Given the description of an element on the screen output the (x, y) to click on. 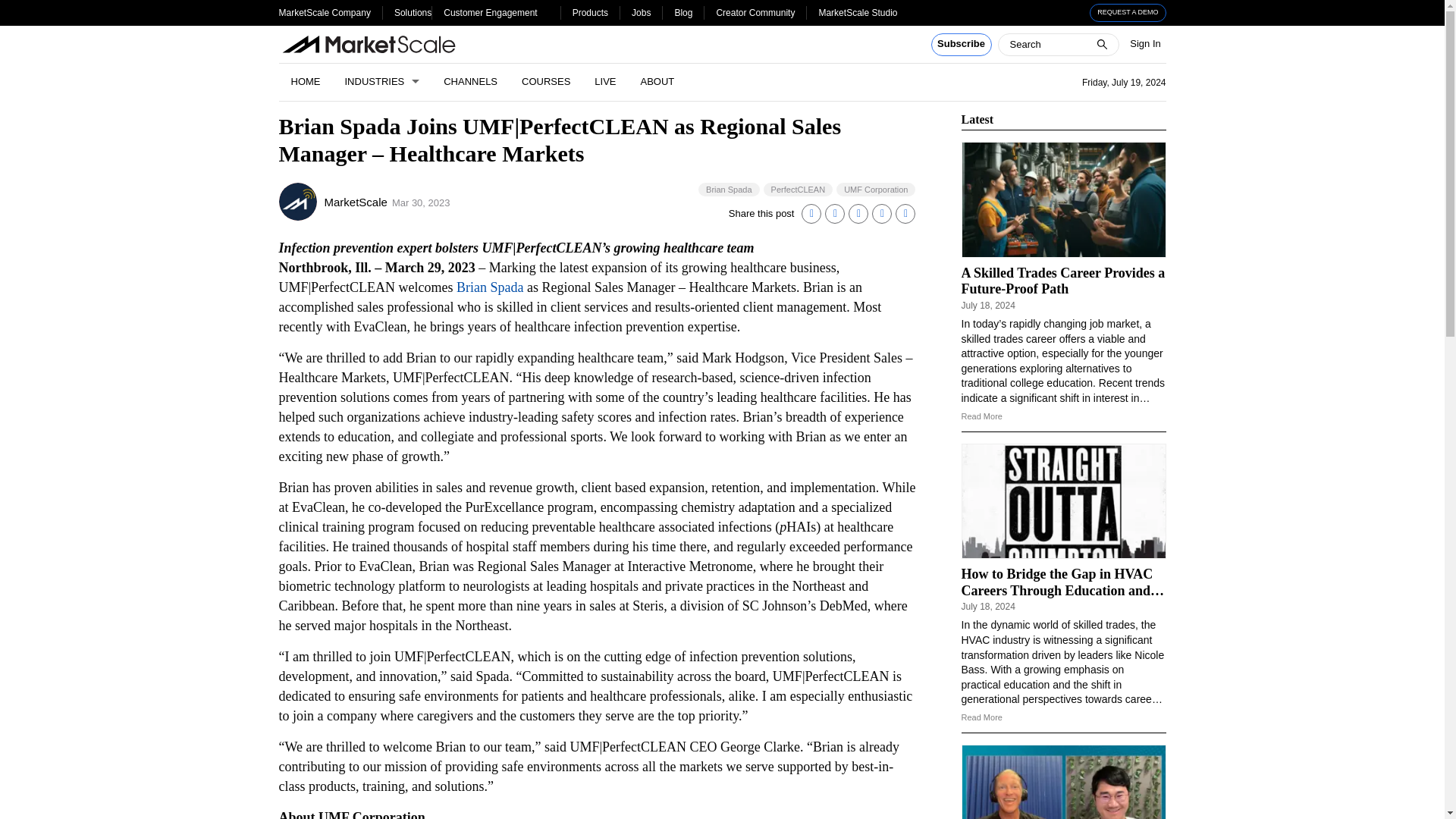
Share on Email (881, 213)
Products (590, 12)
Jobs (640, 12)
Copy Link (905, 213)
Share on X (834, 213)
Share on Facebook (857, 213)
Customer Engagement (490, 12)
Share on Linkedin (811, 213)
Creator Community (755, 12)
MarketScale (355, 201)
Solutions (412, 12)
REQUEST A DEMO (1127, 13)
MarketScale Company (325, 12)
Blog (683, 12)
MarketScale (298, 201)
